Given the description of an element on the screen output the (x, y) to click on. 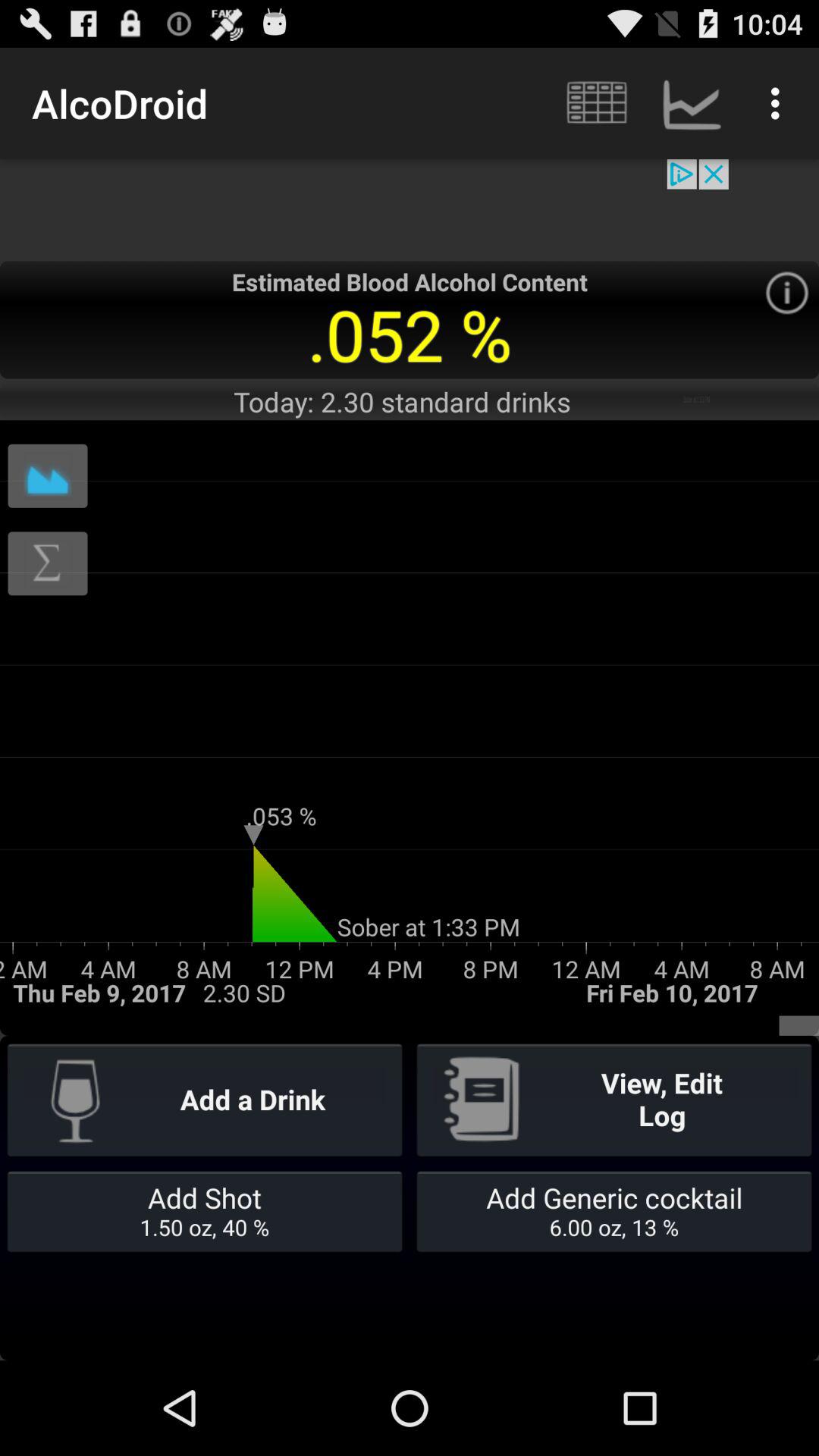
formula (47, 563)
